Given the description of an element on the screen output the (x, y) to click on. 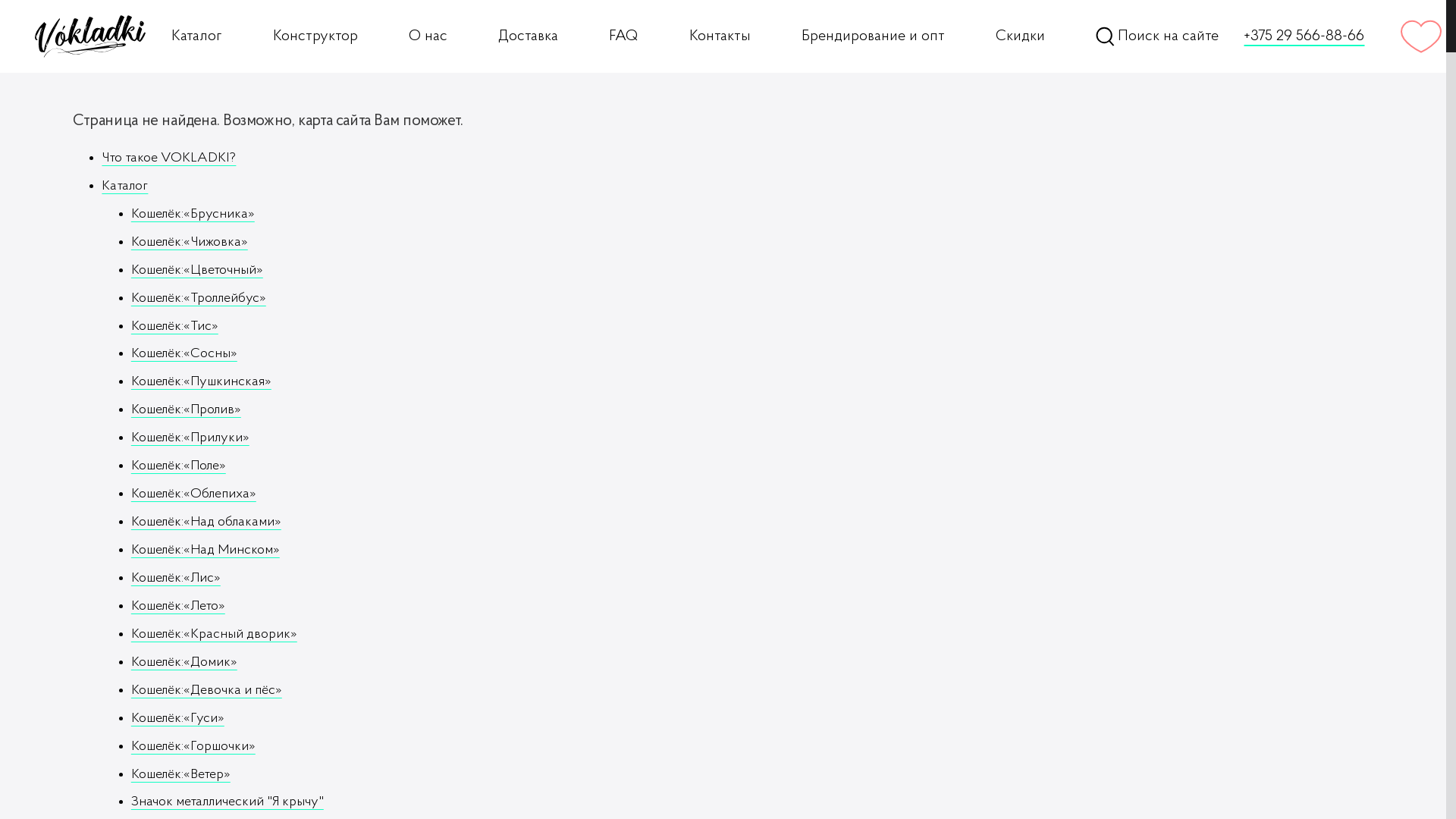
FAQ Element type: text (623, 36)
+375 29 566-88-66 Element type: text (1303, 35)
